Given the description of an element on the screen output the (x, y) to click on. 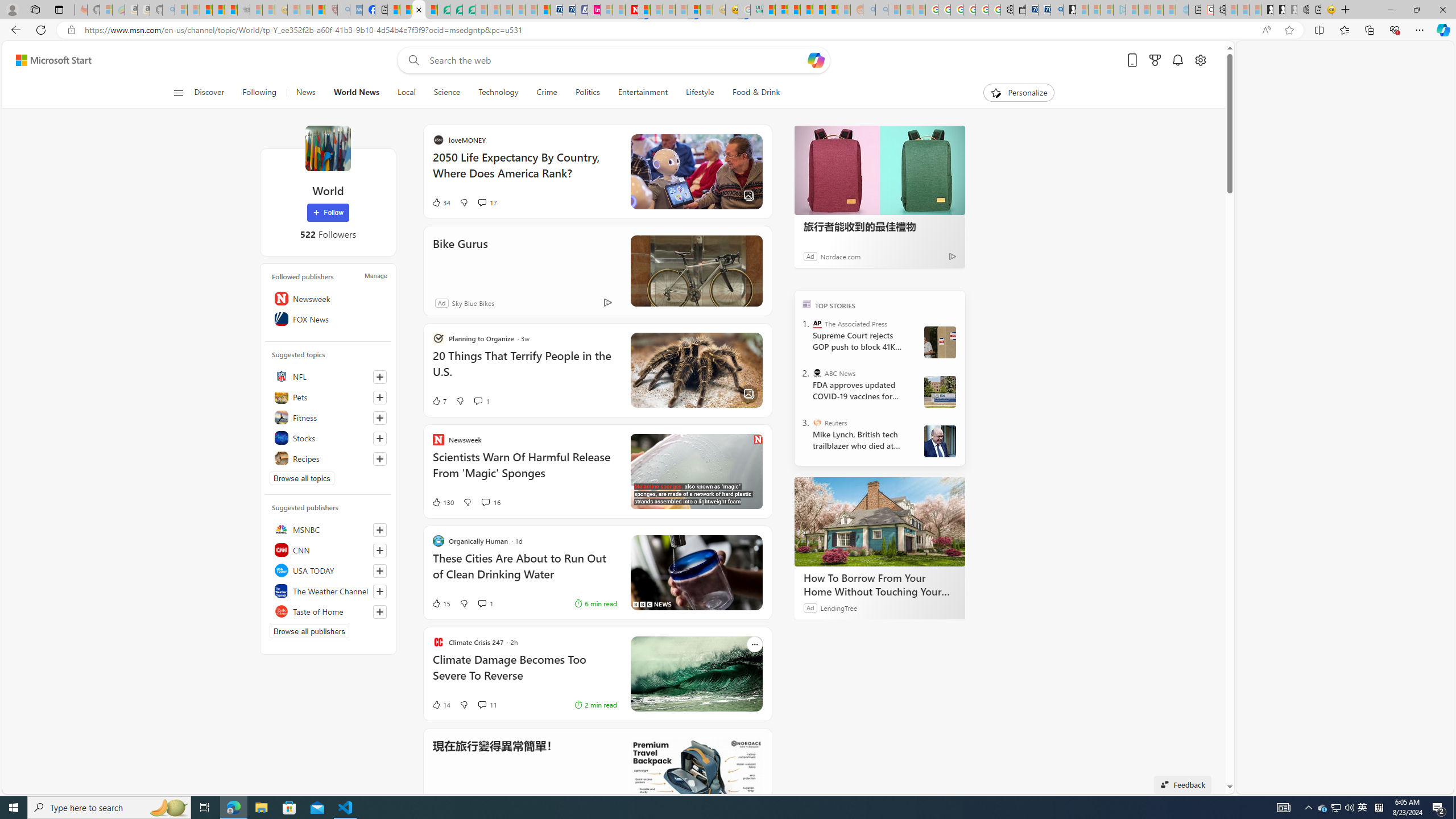
15 Like (549, 603)
The Weather Channel - MSN (205, 9)
Reuters (816, 422)
These Cities Are About to Run Out of Clean Drinking Water (805, 572)
